Given the description of an element on the screen output the (x, y) to click on. 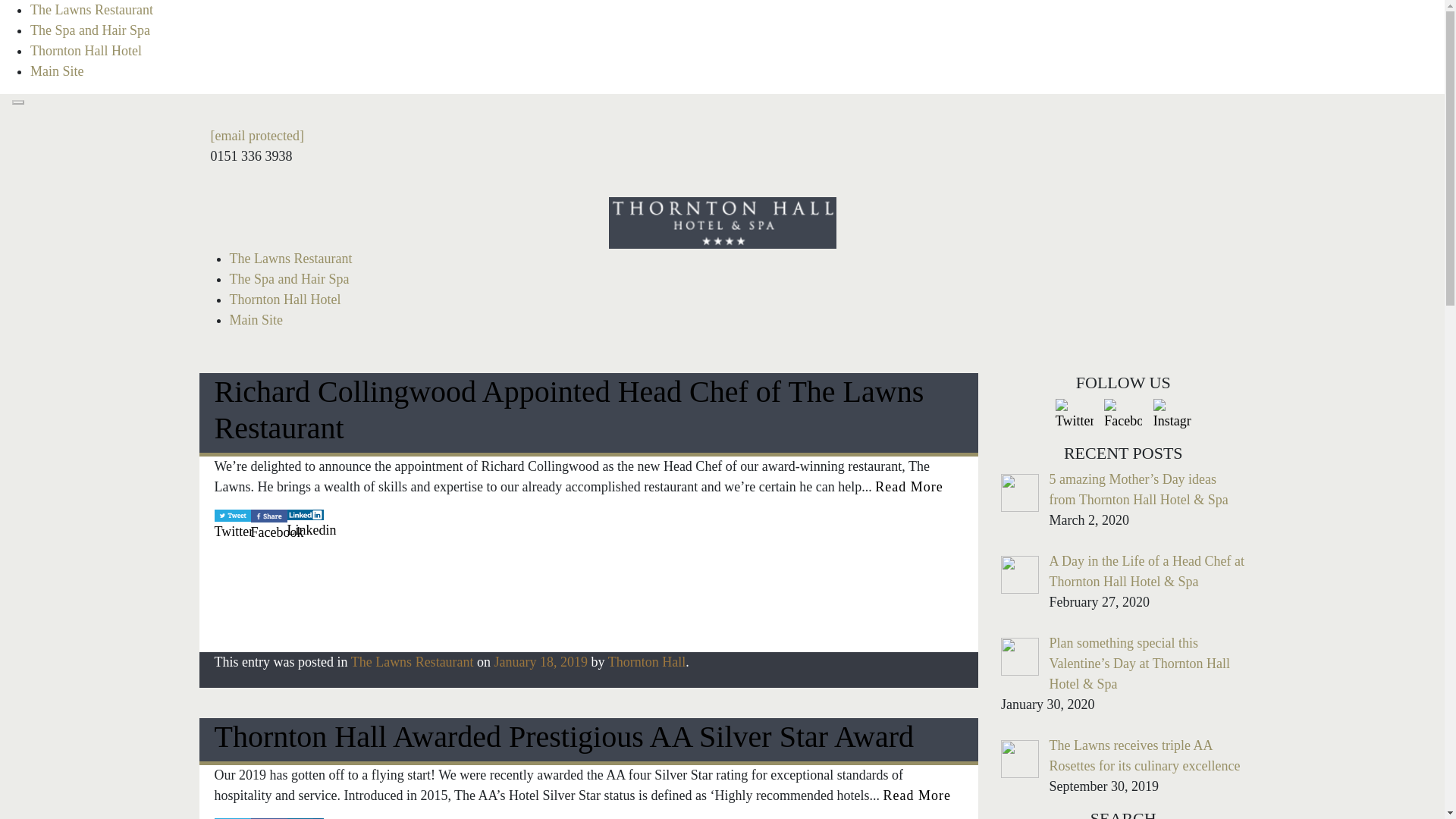
11:14 am (541, 661)
Thornton Hall Hotel (284, 299)
The Lawns Restaurant (91, 9)
View all posts by Thornton Hall (646, 661)
Read More (916, 795)
The Lawns Restaurant (412, 661)
Main Site (57, 70)
Twitter (232, 525)
The Spa and Hair Spa (288, 278)
facebook (268, 516)
Twitter (232, 527)
